Given the description of an element on the screen output the (x, y) to click on. 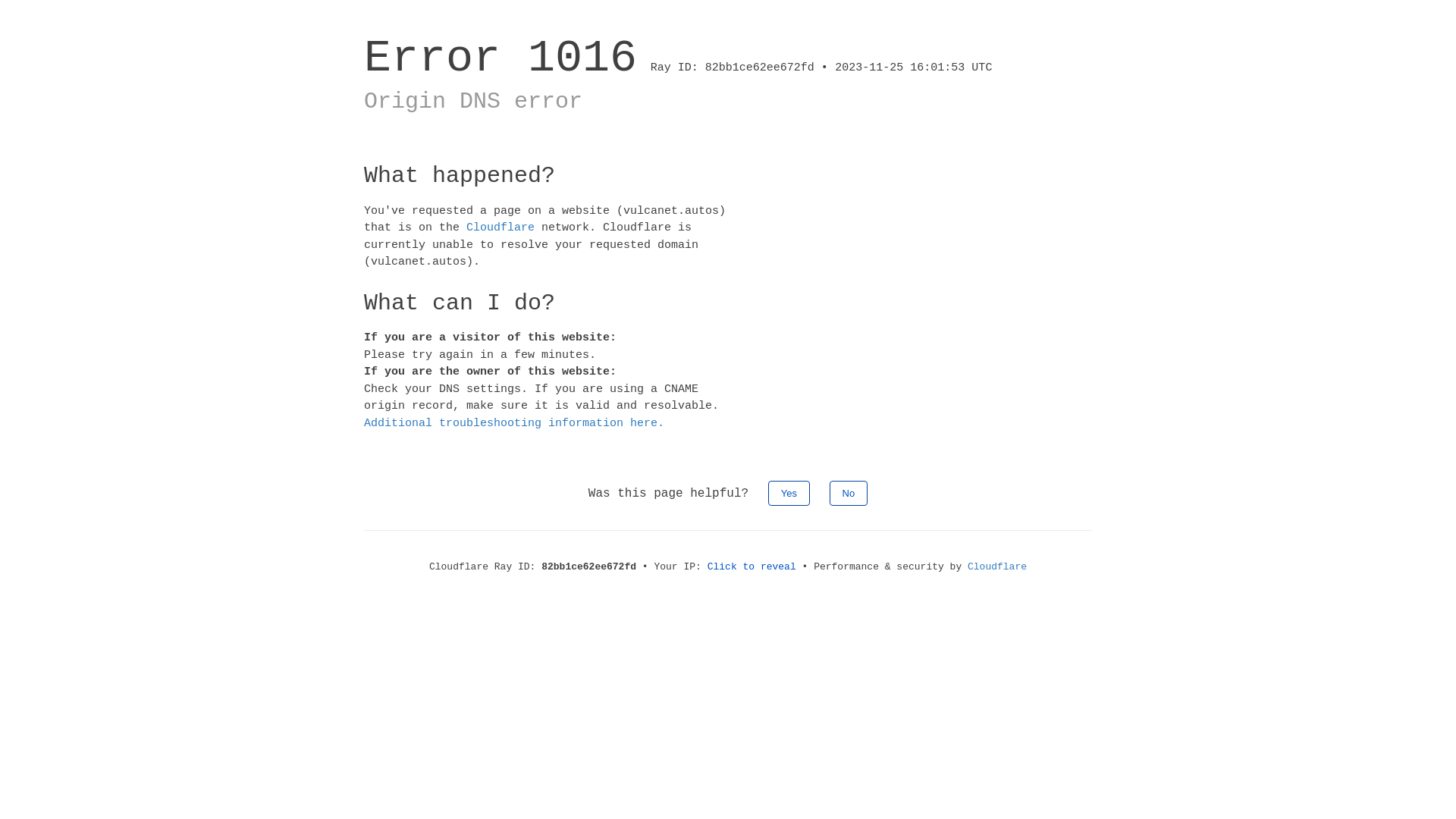
No Element type: text (848, 492)
Additional troubleshooting information here. Element type: text (514, 423)
Cloudflare Element type: text (996, 566)
Click to reveal Element type: text (751, 566)
Yes Element type: text (788, 492)
Cloudflare Element type: text (500, 227)
